Given the description of an element on the screen output the (x, y) to click on. 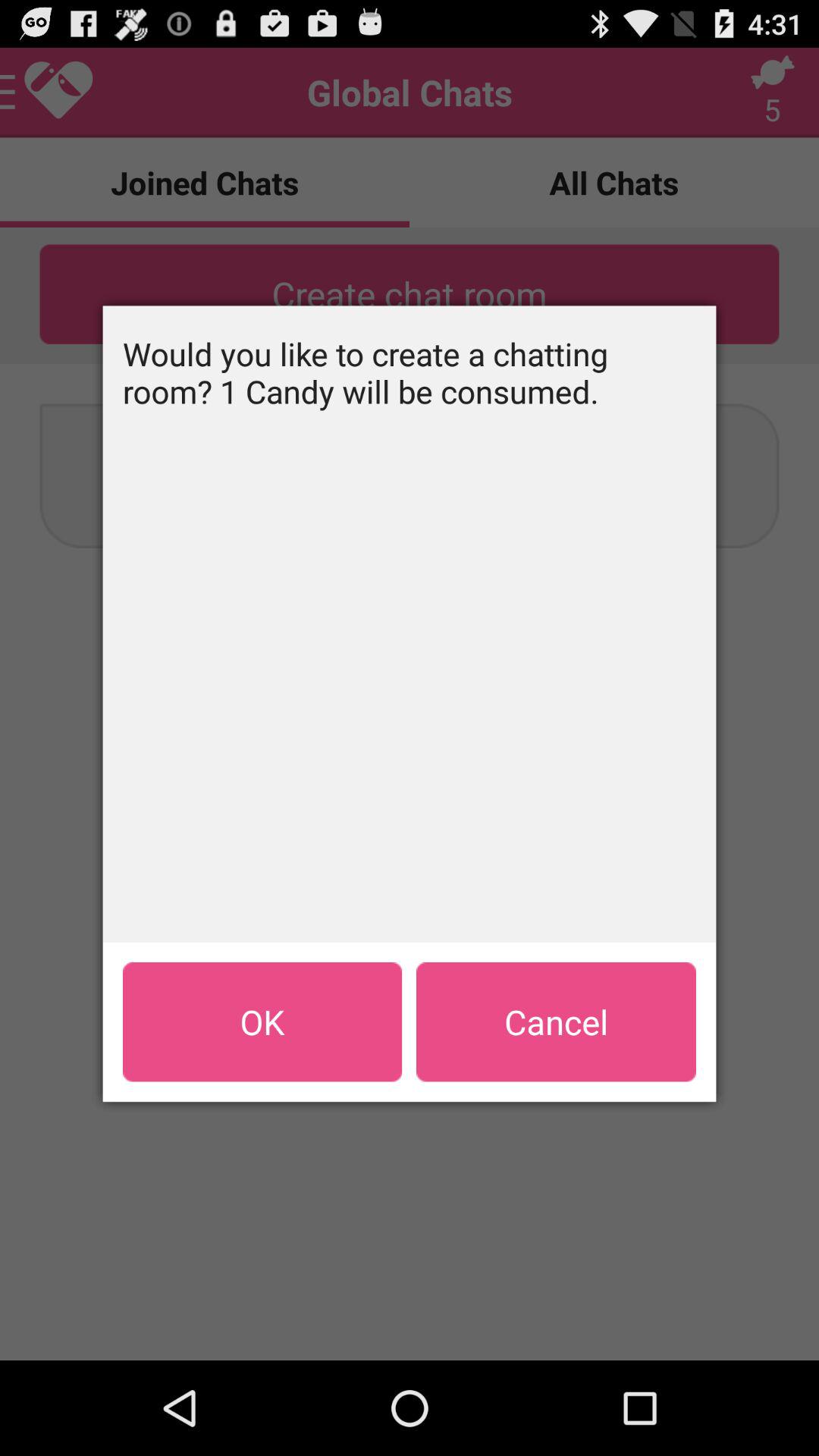
select the ok app (262, 1021)
